Given the description of an element on the screen output the (x, y) to click on. 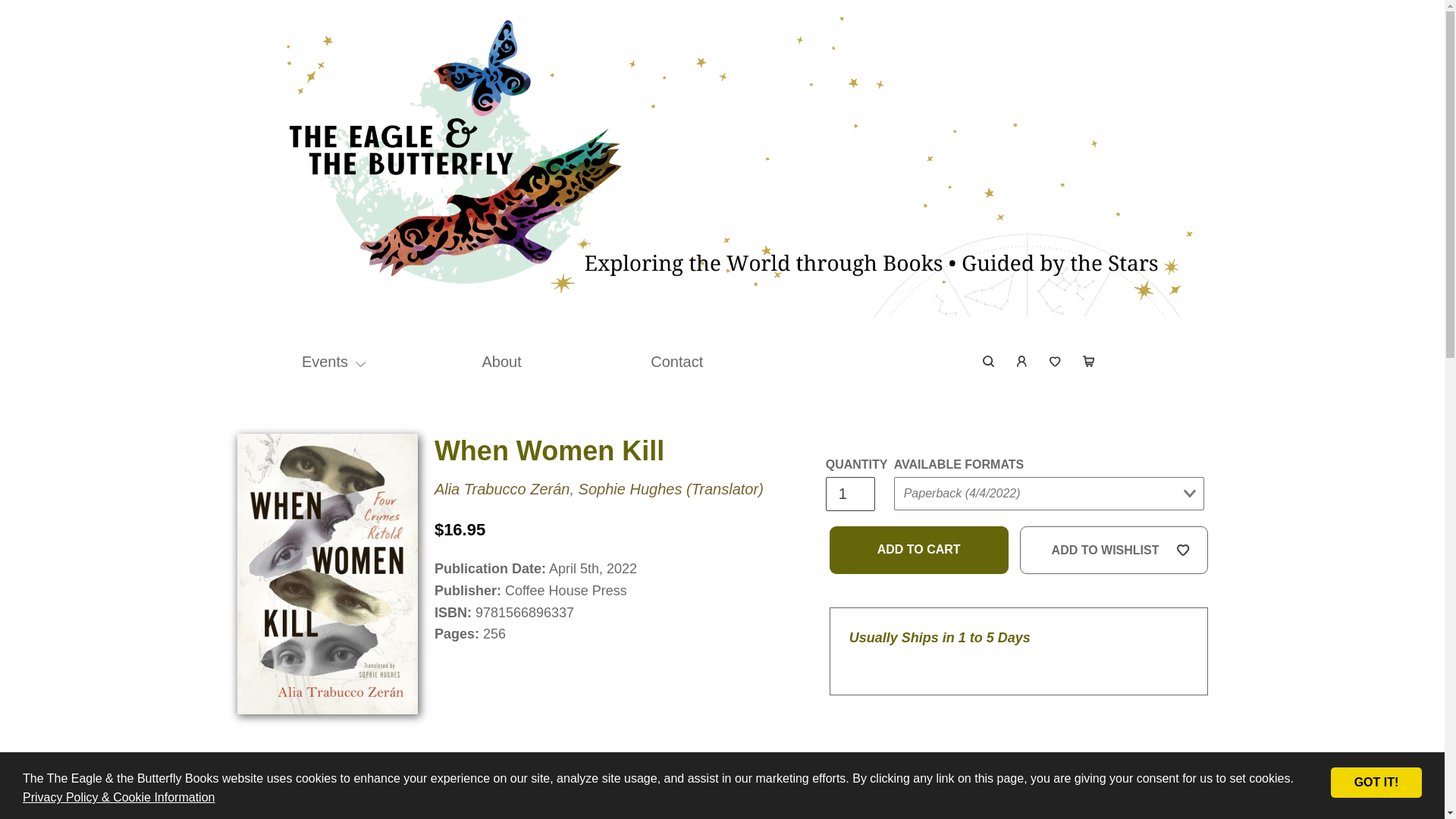
Log in (1022, 361)
ADD TO WISHLIST (1114, 550)
Submit (1169, 225)
1 (850, 493)
Submit (922, 523)
Log in (1022, 361)
Cart (1088, 361)
Add to cart (919, 550)
Contact (676, 361)
About (501, 361)
Wishlist (1055, 361)
Events (324, 361)
Add to cart (919, 550)
Wishlists (1055, 361)
